Given the description of an element on the screen output the (x, y) to click on. 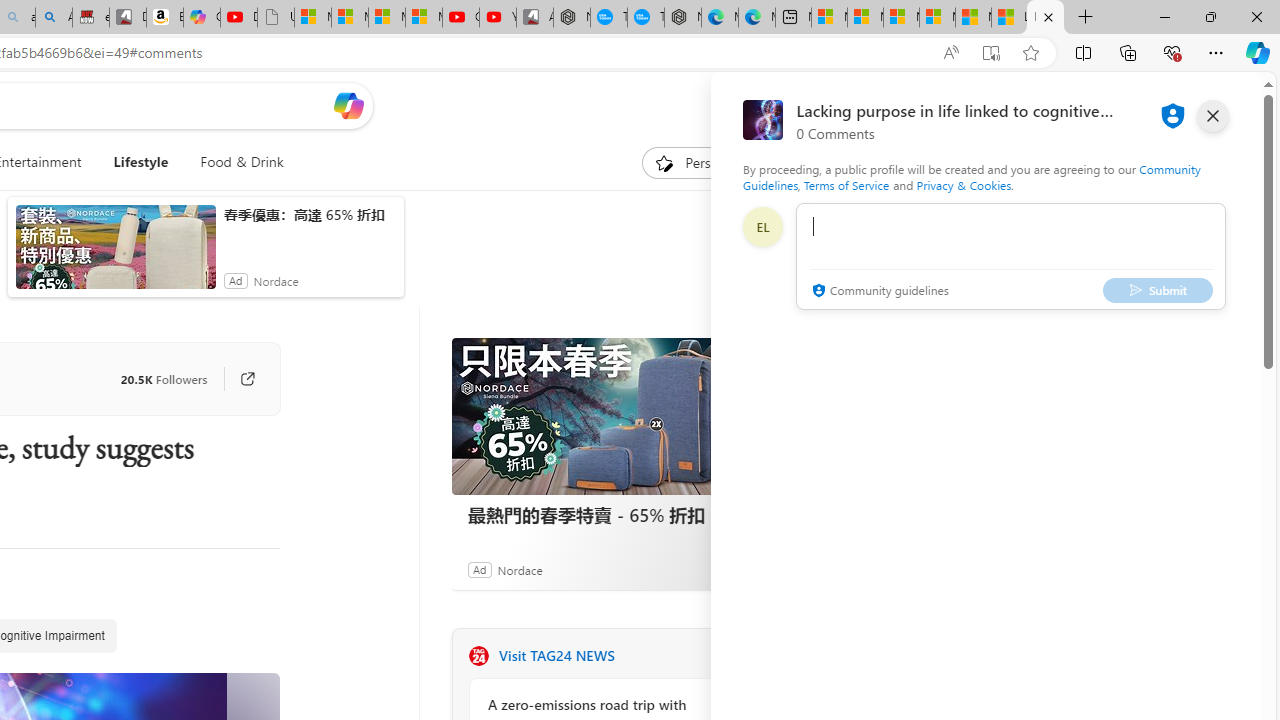
To get missing image descriptions, open the context menu. (664, 162)
Visit TAG24 NEWS website (726, 655)
anim-content (115, 255)
The most popular Google 'how to' searches (646, 17)
Personalize (703, 162)
